Given the description of an element on the screen output the (x, y) to click on. 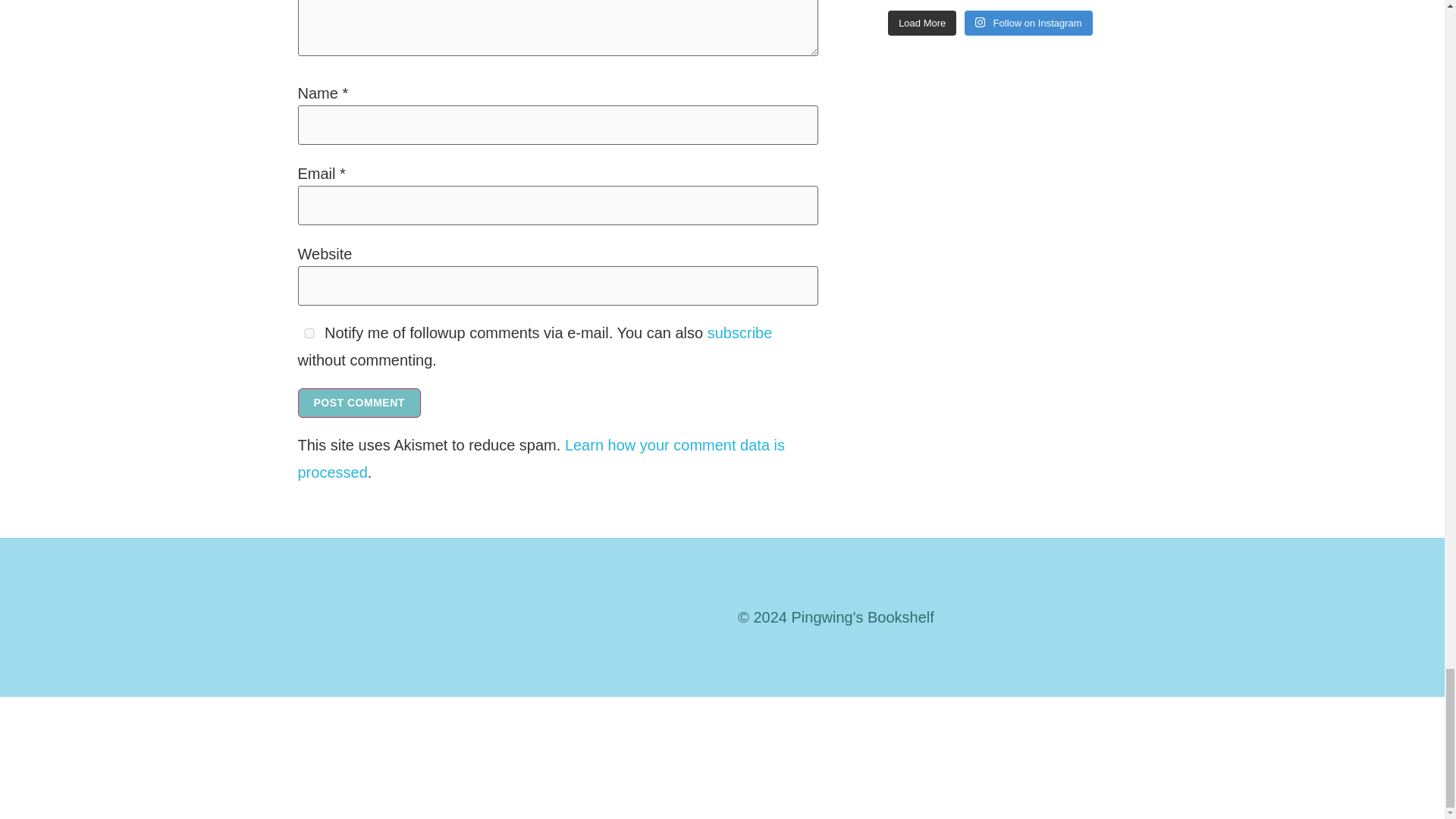
Verified by MonsterInsights (721, 753)
Post Comment (358, 402)
yes (308, 333)
